Given the description of an element on the screen output the (x, y) to click on. 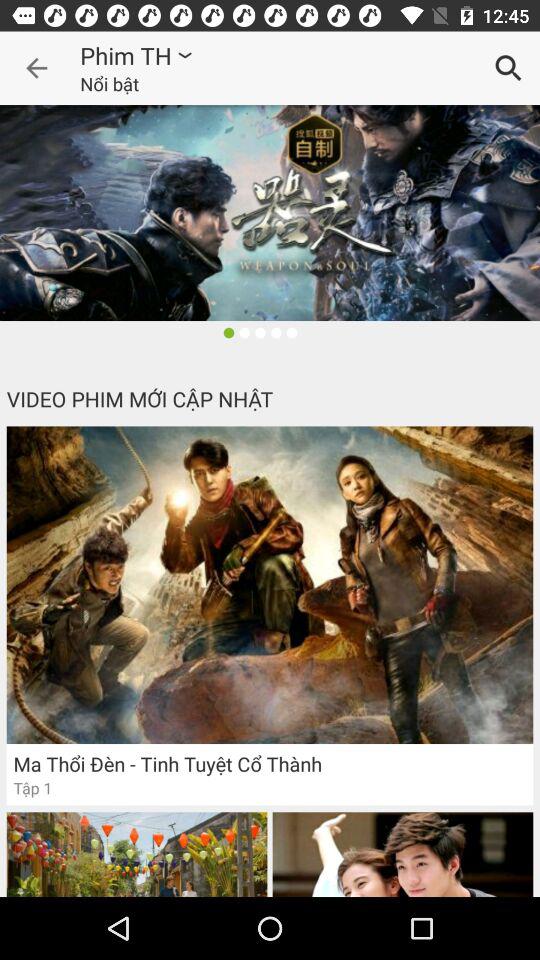
turn off the item next to the phim th (36, 68)
